Given the description of an element on the screen output the (x, y) to click on. 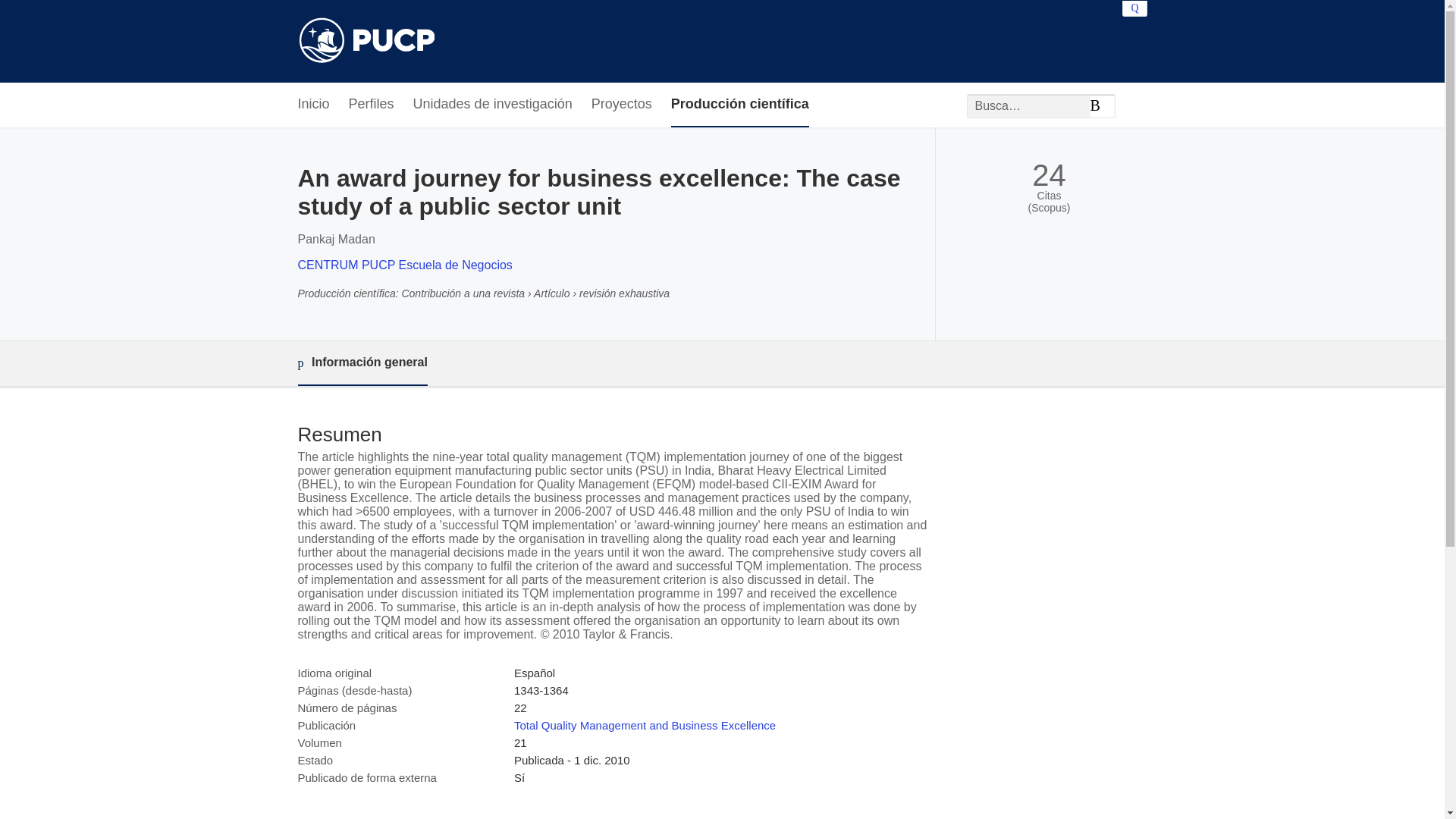
Perfiles (371, 104)
Total Quality Management and Business Excellence (644, 725)
Proyectos (621, 104)
CENTRUM PUCP Escuela de Negocios (404, 264)
